Given the description of an element on the screen output the (x, y) to click on. 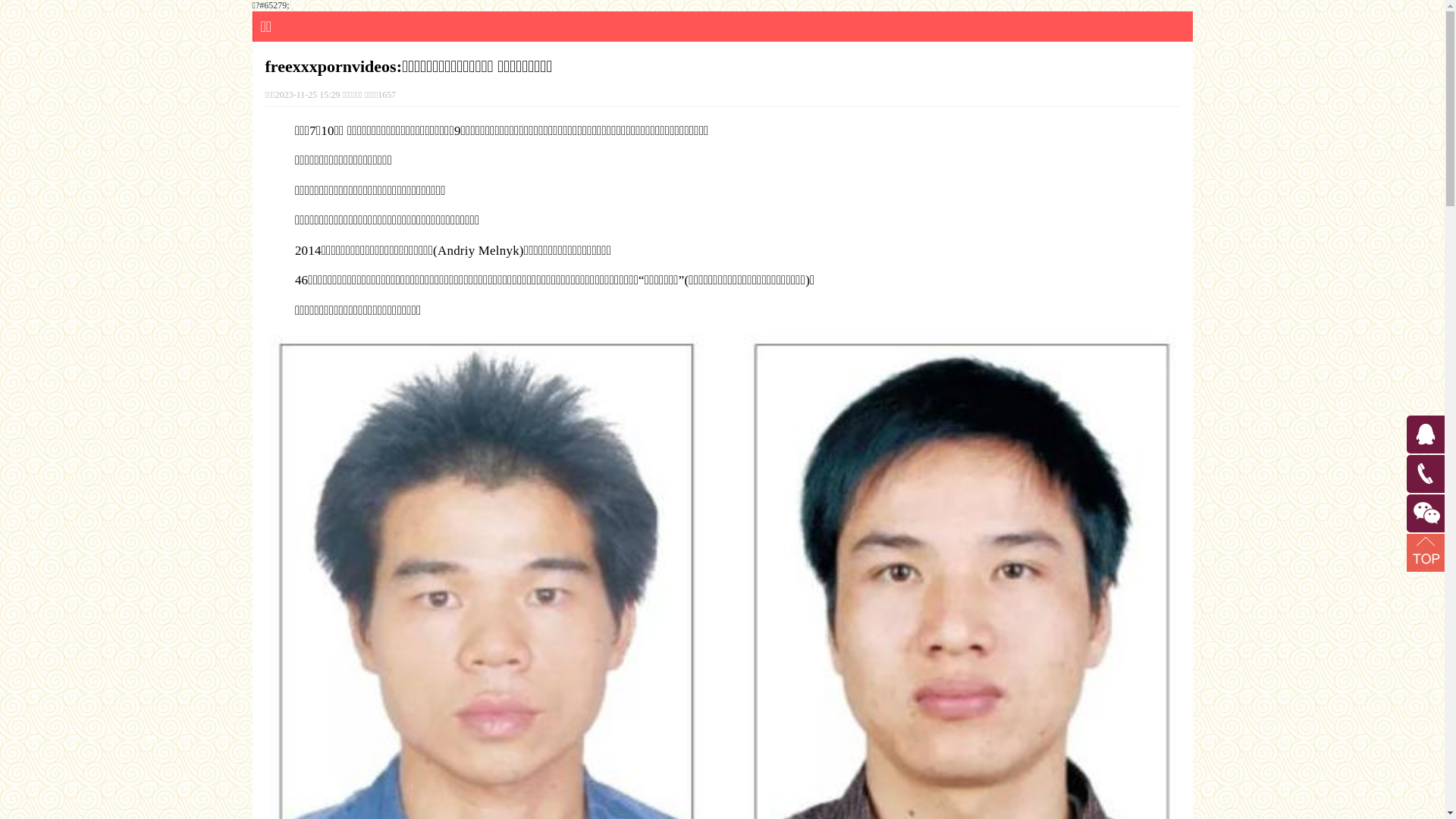
s
029-86619888 Element type: text (1408, 460)
